Given the description of an element on the screen output the (x, y) to click on. 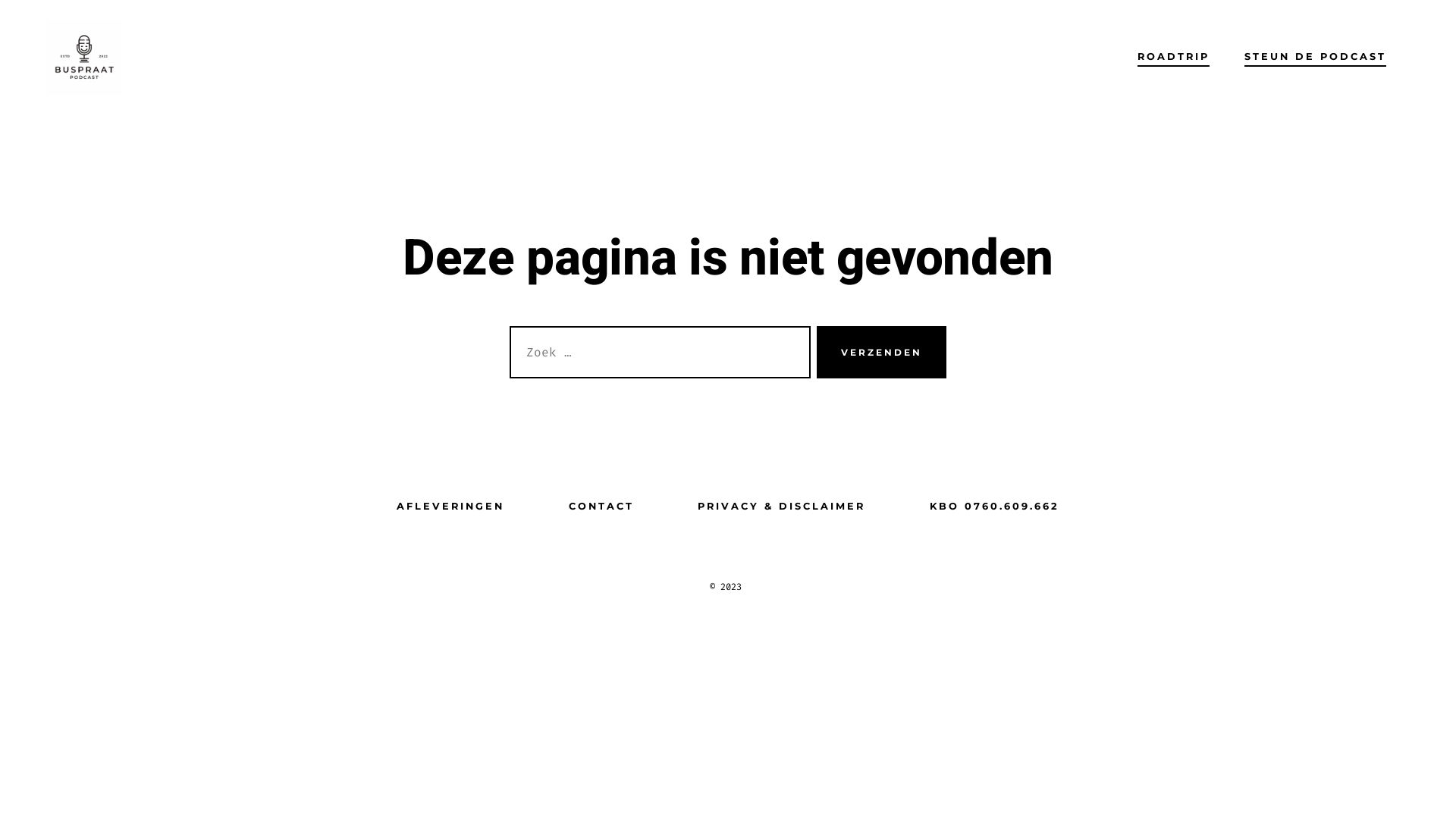
CONTACT Element type: text (600, 506)
STEUN DE PODCAST Element type: text (1315, 57)
KBO 0760.609.662 Element type: text (994, 506)
AFLEVERINGEN Element type: text (450, 506)
PRIVACY & DISCLAIMER Element type: text (781, 506)
VERZENDEN Element type: text (881, 352)
ROADTRIP Element type: text (1173, 57)
